Given the description of an element on the screen output the (x, y) to click on. 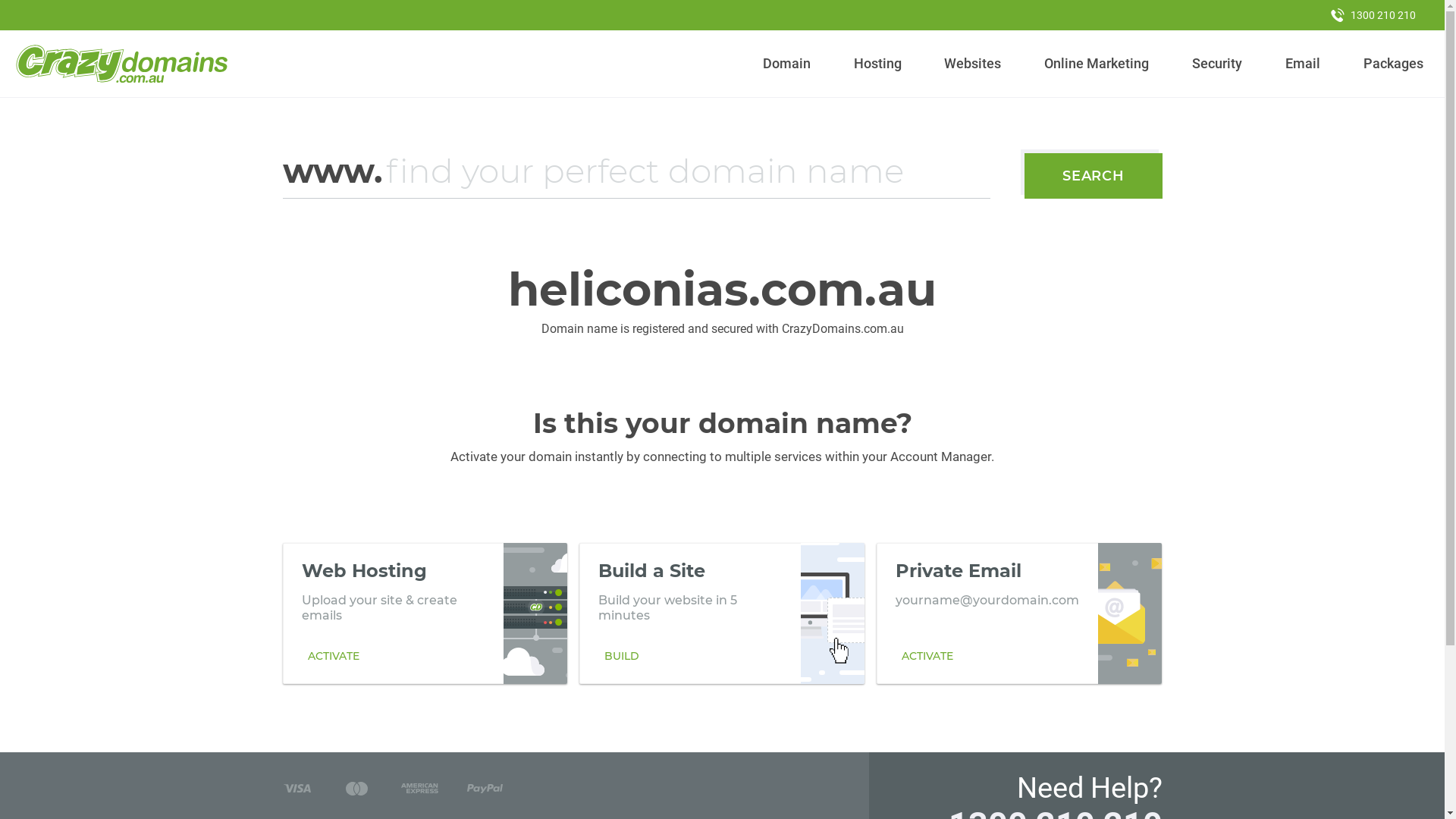
Email Element type: text (1302, 63)
Packages Element type: text (1392, 63)
Web Hosting
Upload your site & create emails
ACTIVATE Element type: text (424, 613)
Hosting Element type: text (877, 63)
Online Marketing Element type: text (1096, 63)
Websites Element type: text (972, 63)
Domain Element type: text (786, 63)
Private Email
yourname@yourdomain.com
ACTIVATE Element type: text (1018, 613)
1300 210 210 Element type: text (1373, 15)
Security Element type: text (1217, 63)
SEARCH Element type: text (1092, 175)
Build a Site
Build your website in 5 minutes
BUILD Element type: text (721, 613)
